Given the description of an element on the screen output the (x, y) to click on. 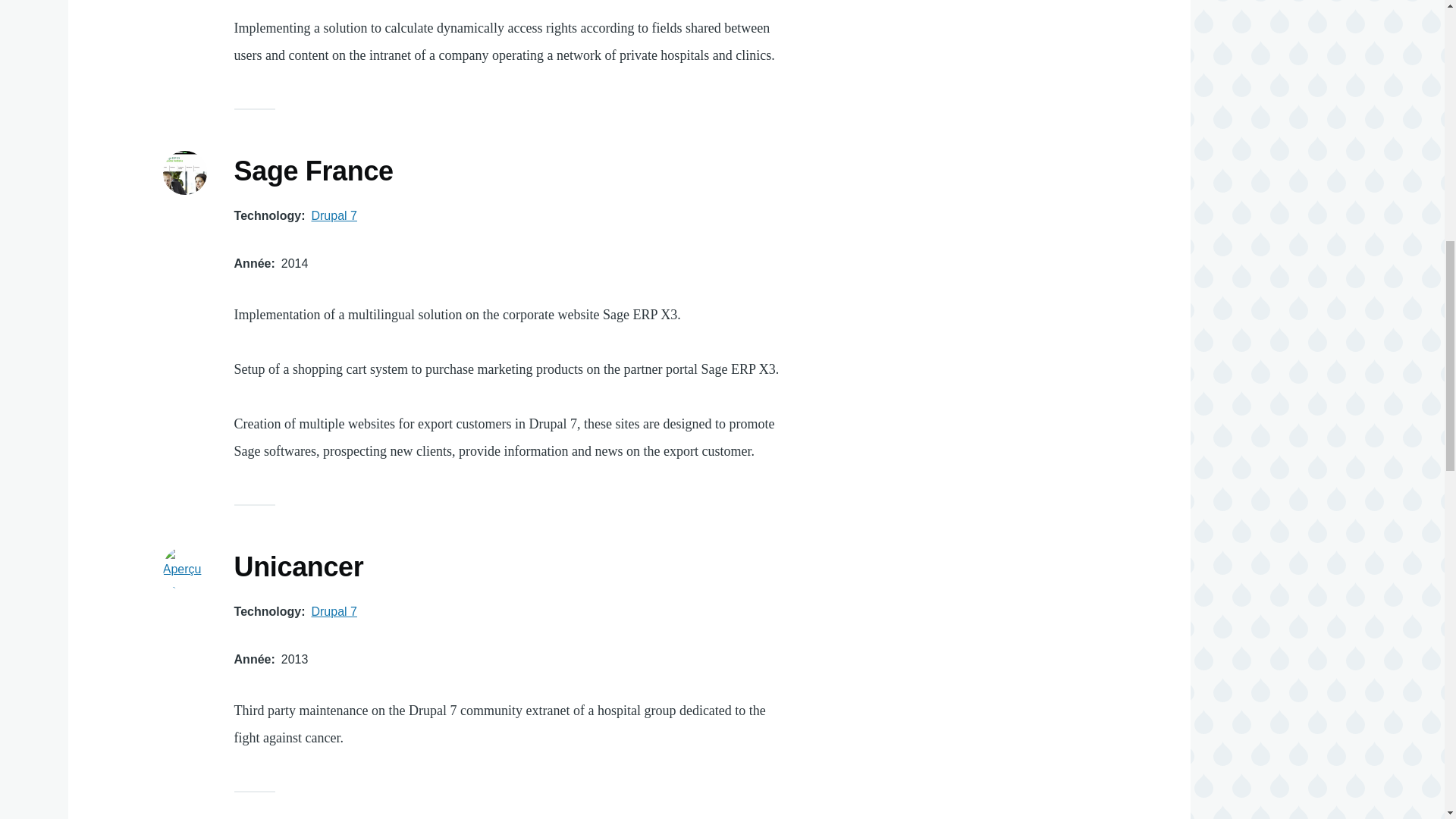
Drupal 7 (333, 611)
Drupal 7 (333, 215)
Sage France (313, 172)
Unicancer (299, 567)
